Given the description of an element on the screen output the (x, y) to click on. 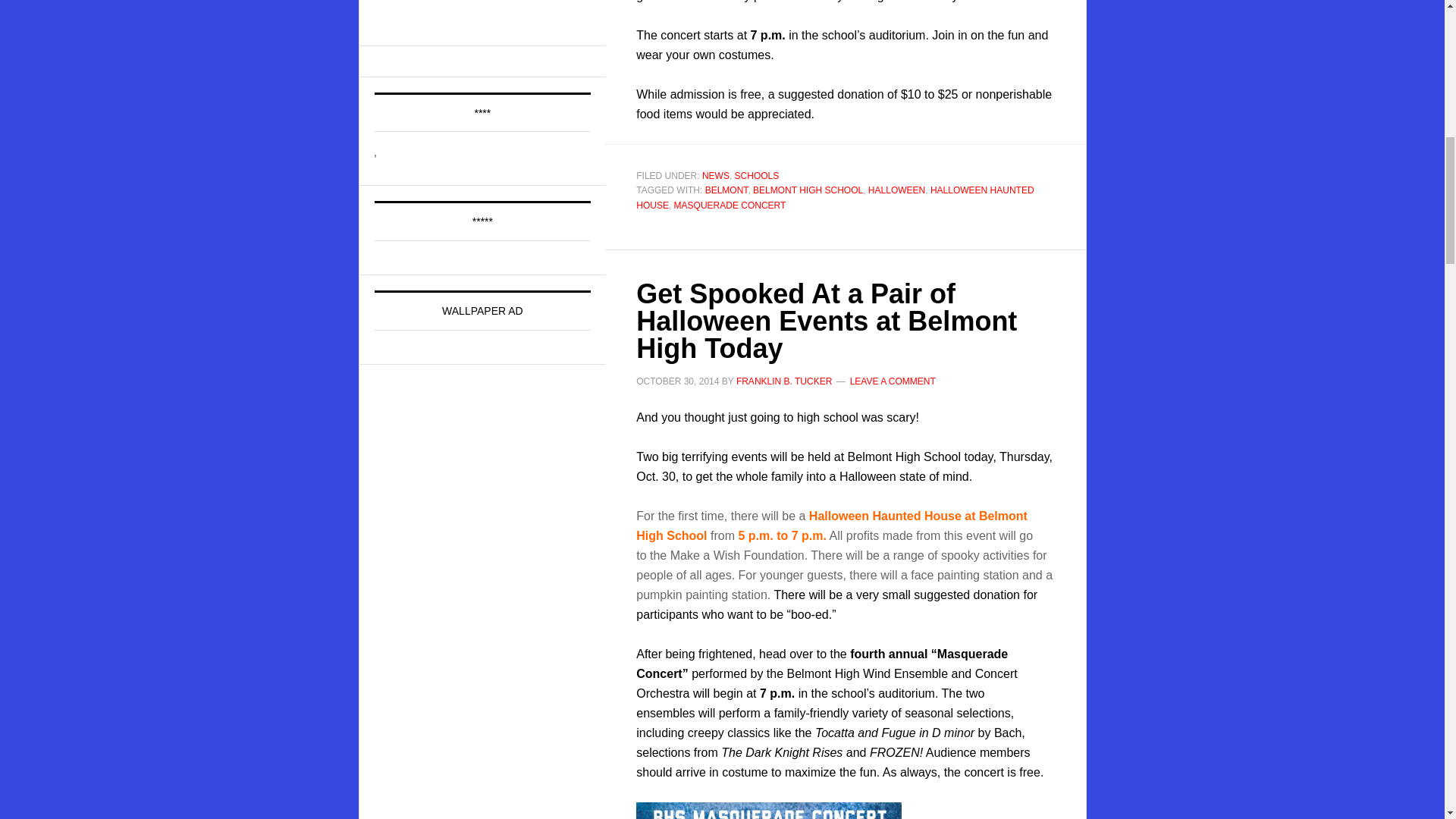
FRANKLIN B. TUCKER (783, 380)
Advertisement (488, 12)
HALLOWEEN (895, 190)
MASQUERADE CONCERT (730, 204)
NEWS (715, 175)
LEAVE A COMMENT (893, 380)
BELMONT (726, 190)
HALLOWEEN HAUNTED HOUSE (834, 197)
SCHOOLS (756, 175)
